Given the description of an element on the screen output the (x, y) to click on. 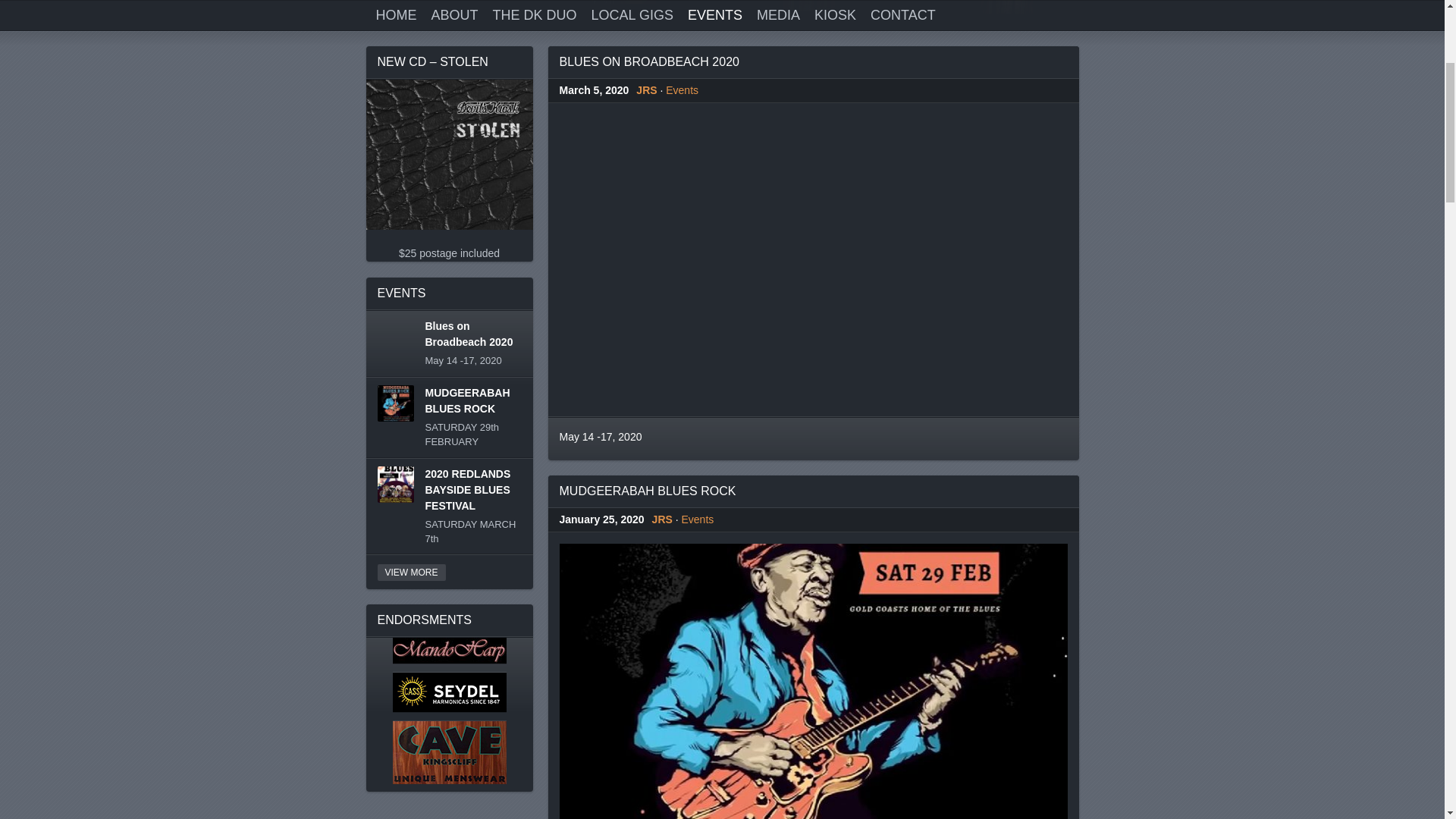
Blues on Broadbeach 2020 Element type: text (468, 636)
MUDGEERABAH BLUES ROCK Element type: text (466, 702)
ABOUT Element type: text (453, 317)
Events Element type: text (681, 392)
MUDGEERABAH BLUES ROCK Element type: text (647, 793)
EVENTS Element type: text (714, 317)
CONTACT Element type: text (902, 317)
KIOSK Element type: text (835, 317)
BLUES ON BROADBEACH 2020 Element type: text (649, 363)
MEDIA Element type: text (778, 317)
THE DK DUO Element type: text (534, 317)
LOCAL GIGS Element type: text (632, 317)
HOME Element type: text (396, 317)
March 5, 2020 Element type: text (594, 392)
DEVILS KIOSK Element type: text (459, 69)
2020 REDLANDS BAYSIDE BLUES FESTIVAL Element type: text (467, 792)
Blues on Broadbeach 2020 Element type: hover (813, 562)
JRS Element type: text (646, 392)
